Given the description of an element on the screen output the (x, y) to click on. 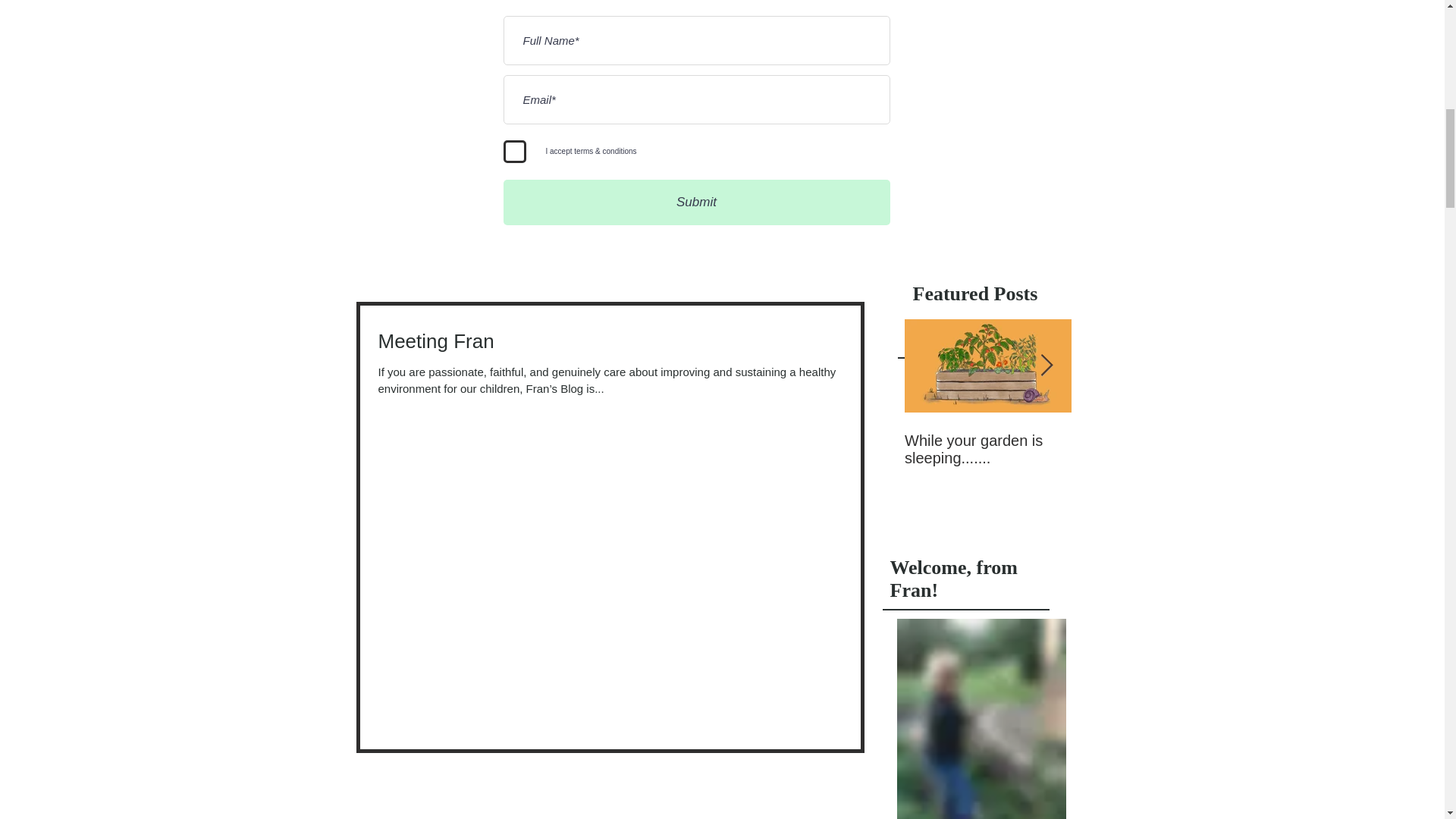
While your garden is sleeping....... (987, 426)
Why Become a Gardener? (987, 449)
Meeting Fran (987, 426)
Submit (1153, 449)
